Given the description of an element on the screen output the (x, y) to click on. 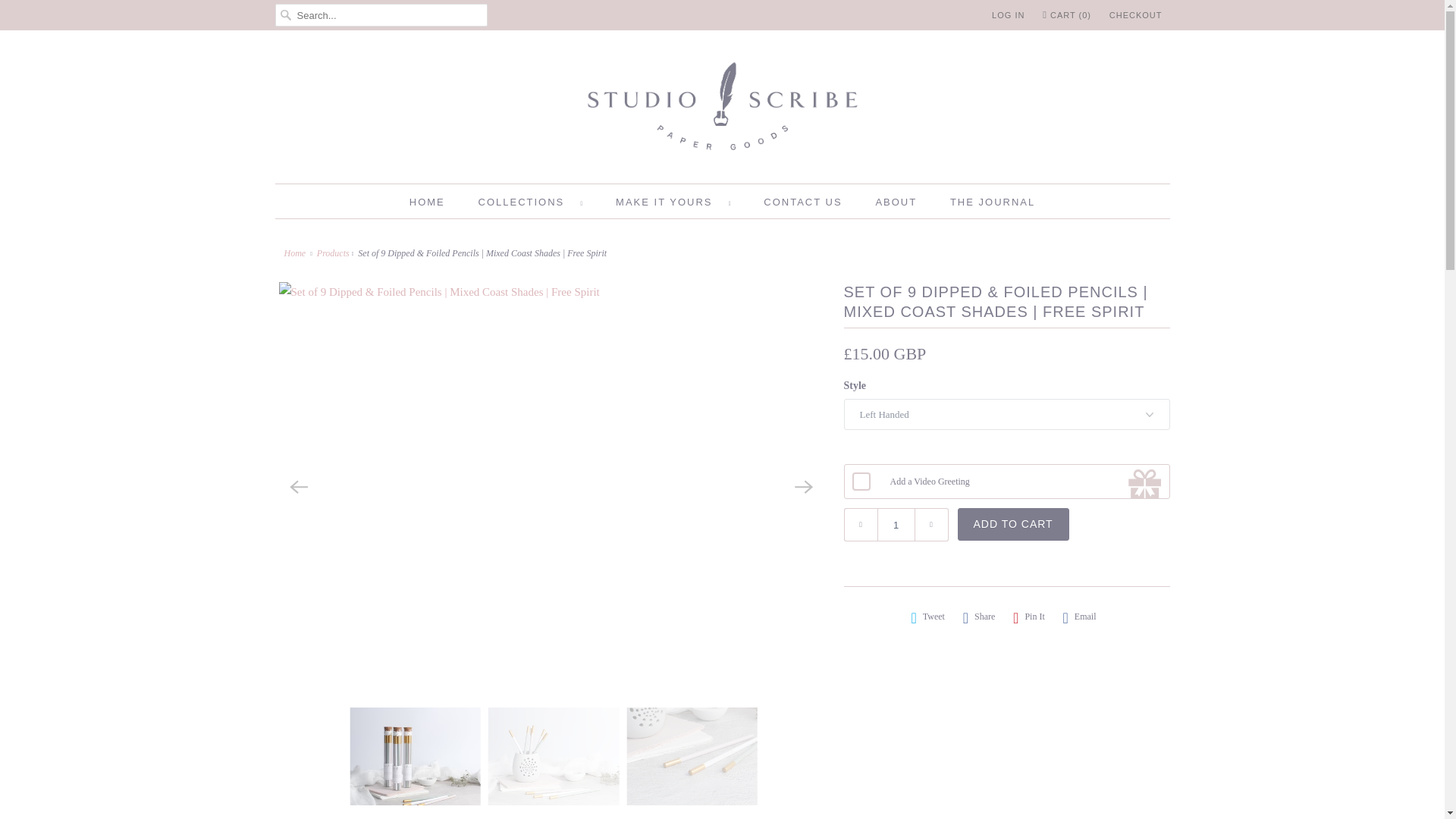
Studio Scribe (296, 253)
1 (895, 524)
Share this on Facebook (979, 616)
Studio Scribe (722, 110)
Products (333, 253)
Share this on Pinterest (1029, 616)
CHECKOUT (1135, 15)
Share this on Twitter (928, 616)
LOG IN (1008, 15)
Email this to a friend (1079, 616)
